Given the description of an element on the screen output the (x, y) to click on. 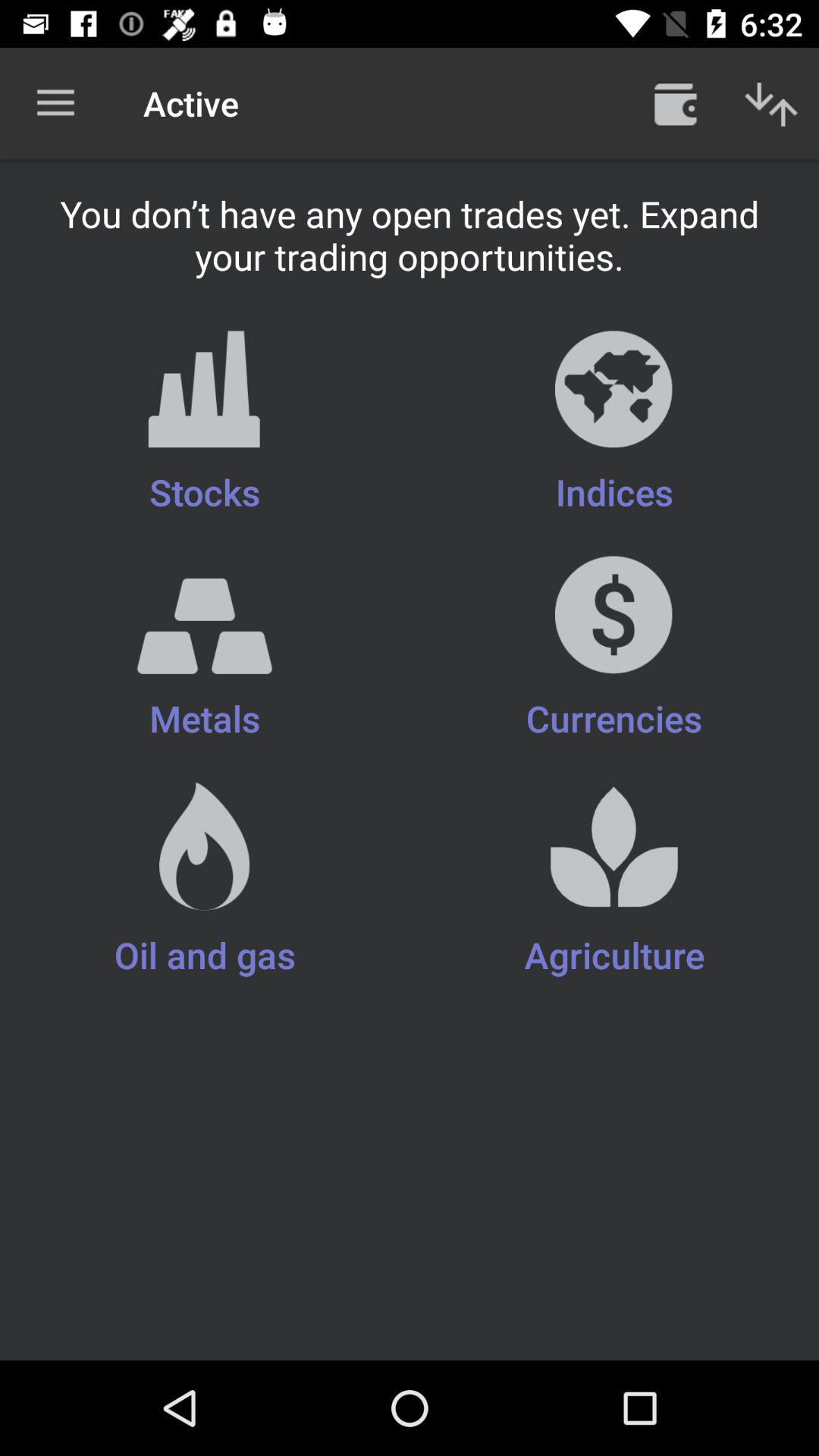
press item next to metals (614, 881)
